Given the description of an element on the screen output the (x, y) to click on. 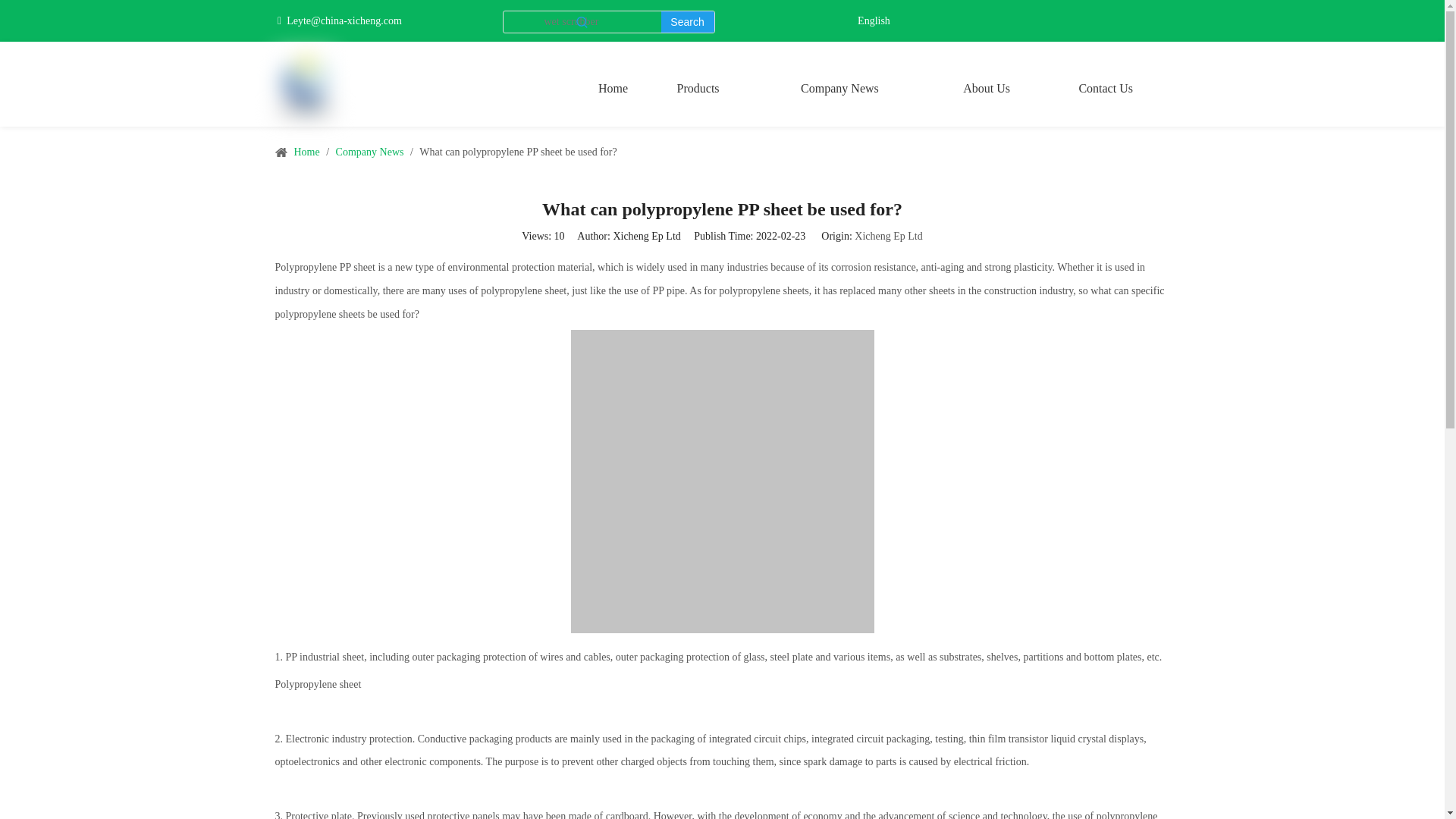
About Us (986, 88)
English (873, 21)
Company News (839, 88)
Contact Us (1106, 88)
Products (697, 88)
Home (612, 88)
Search (687, 21)
